Given the description of an element on the screen output the (x, y) to click on. 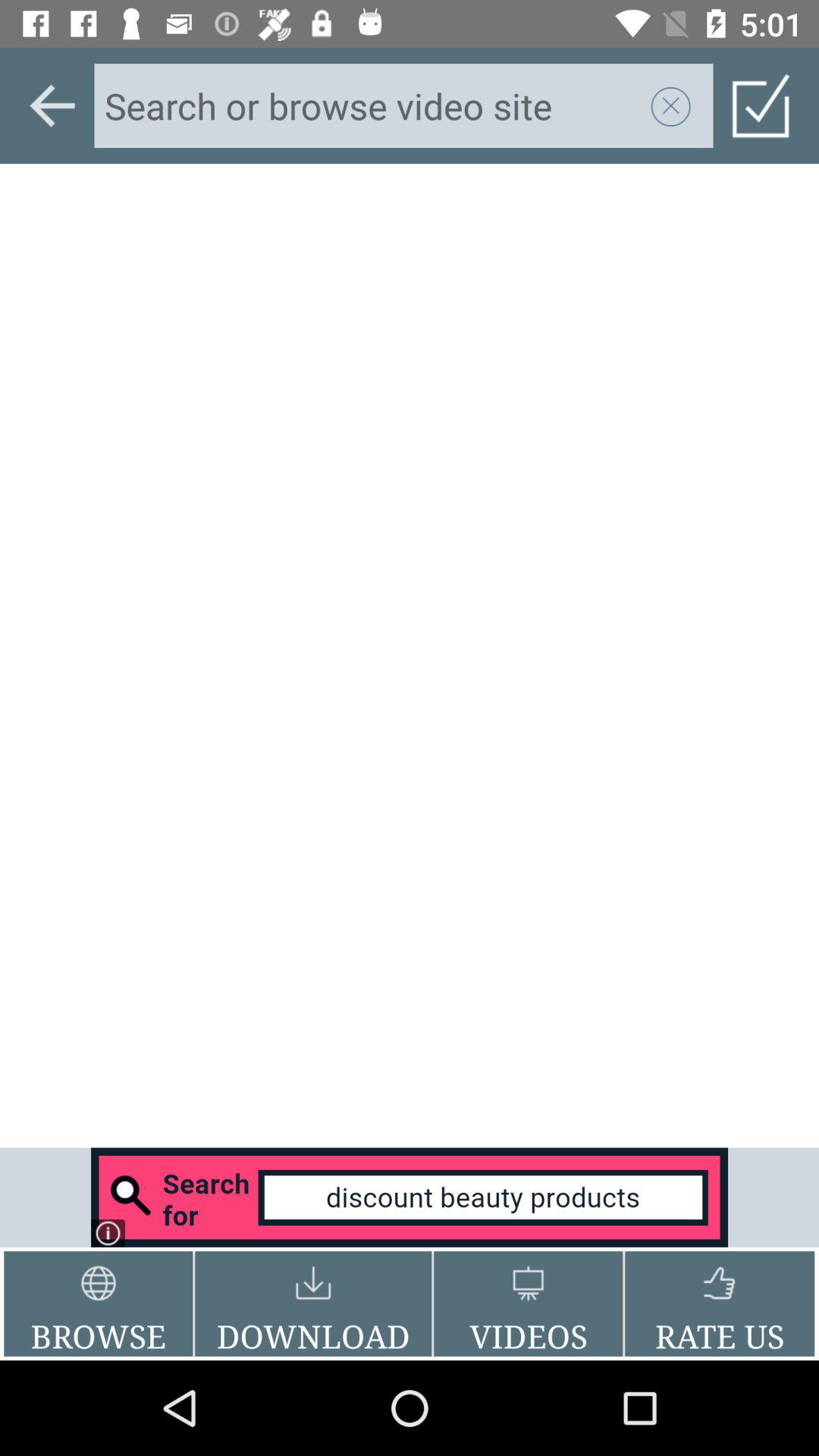
turn on the icon to the left of download button (97, 1303)
